Given the description of an element on the screen output the (x, y) to click on. 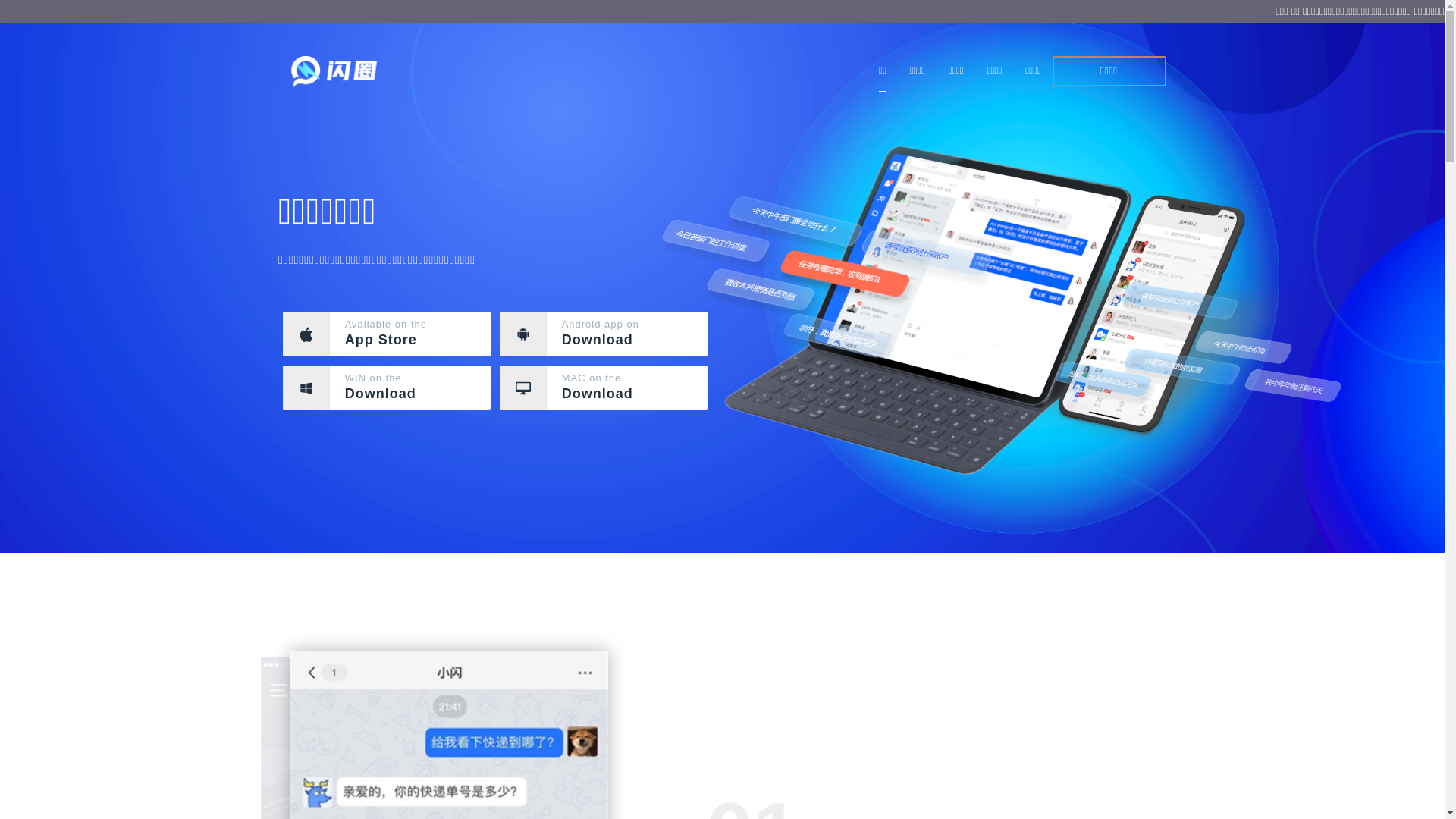
MAC on the
Download Element type: text (603, 387)
Android app on
Download Element type: text (603, 333)
Available on the
App Store Element type: text (386, 333)
WIN on the
Download Element type: text (386, 387)
